Given the description of an element on the screen output the (x, y) to click on. 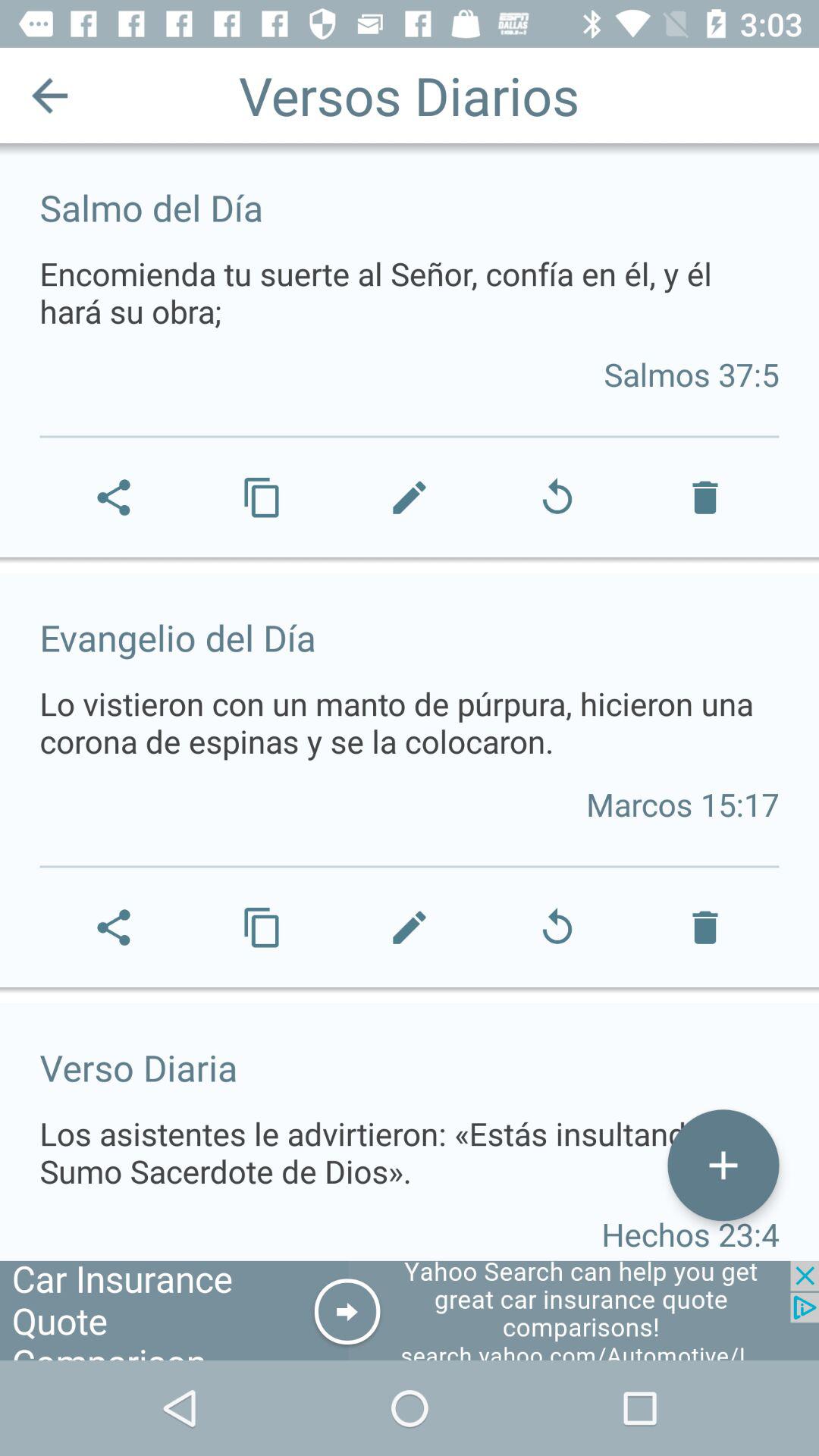
turn on the icon at the bottom right corner (723, 1165)
